Given the description of an element on the screen output the (x, y) to click on. 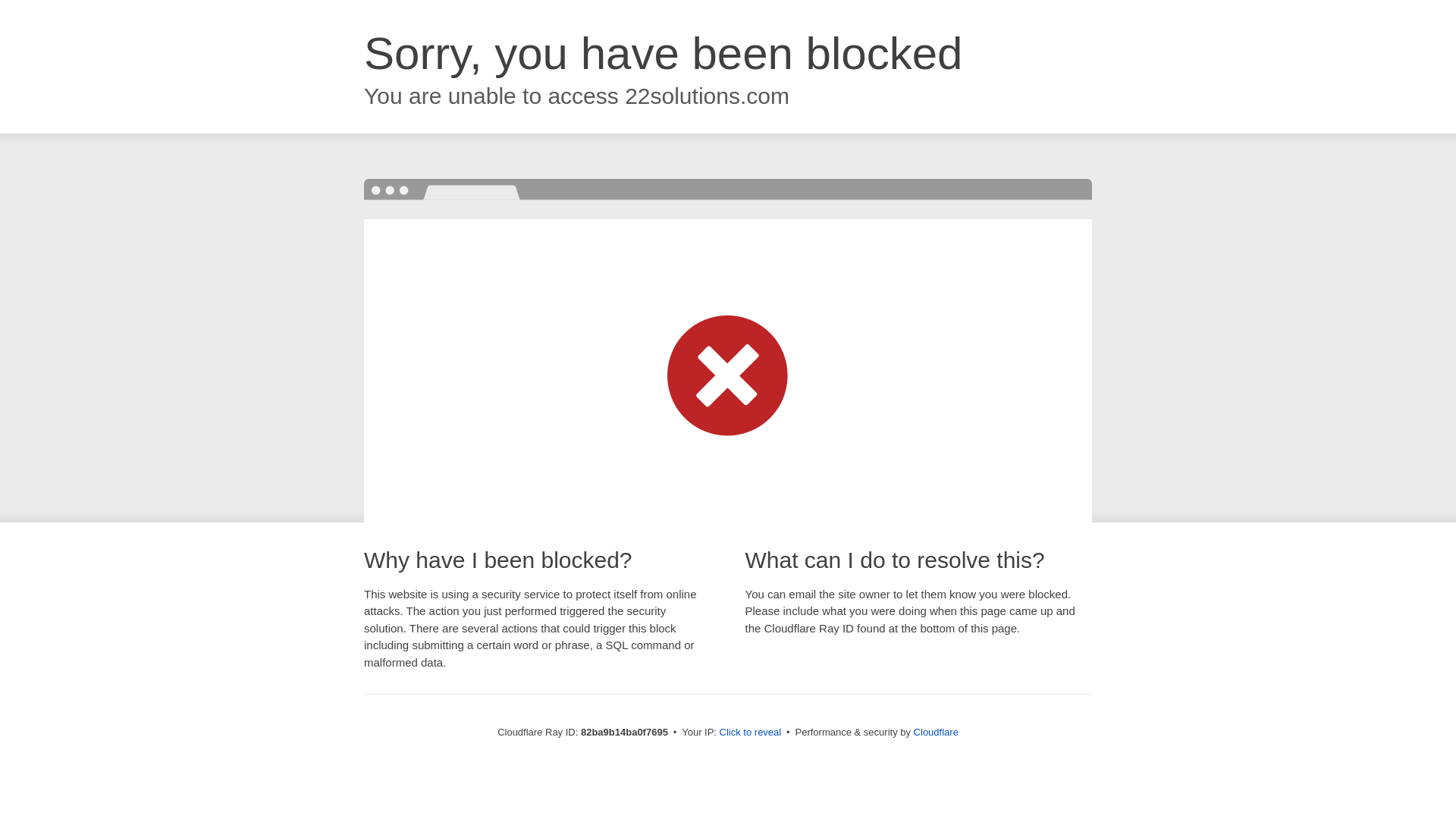
Cloudflare Element type: text (935, 731)
Click to reveal Element type: text (750, 732)
